Given the description of an element on the screen output the (x, y) to click on. 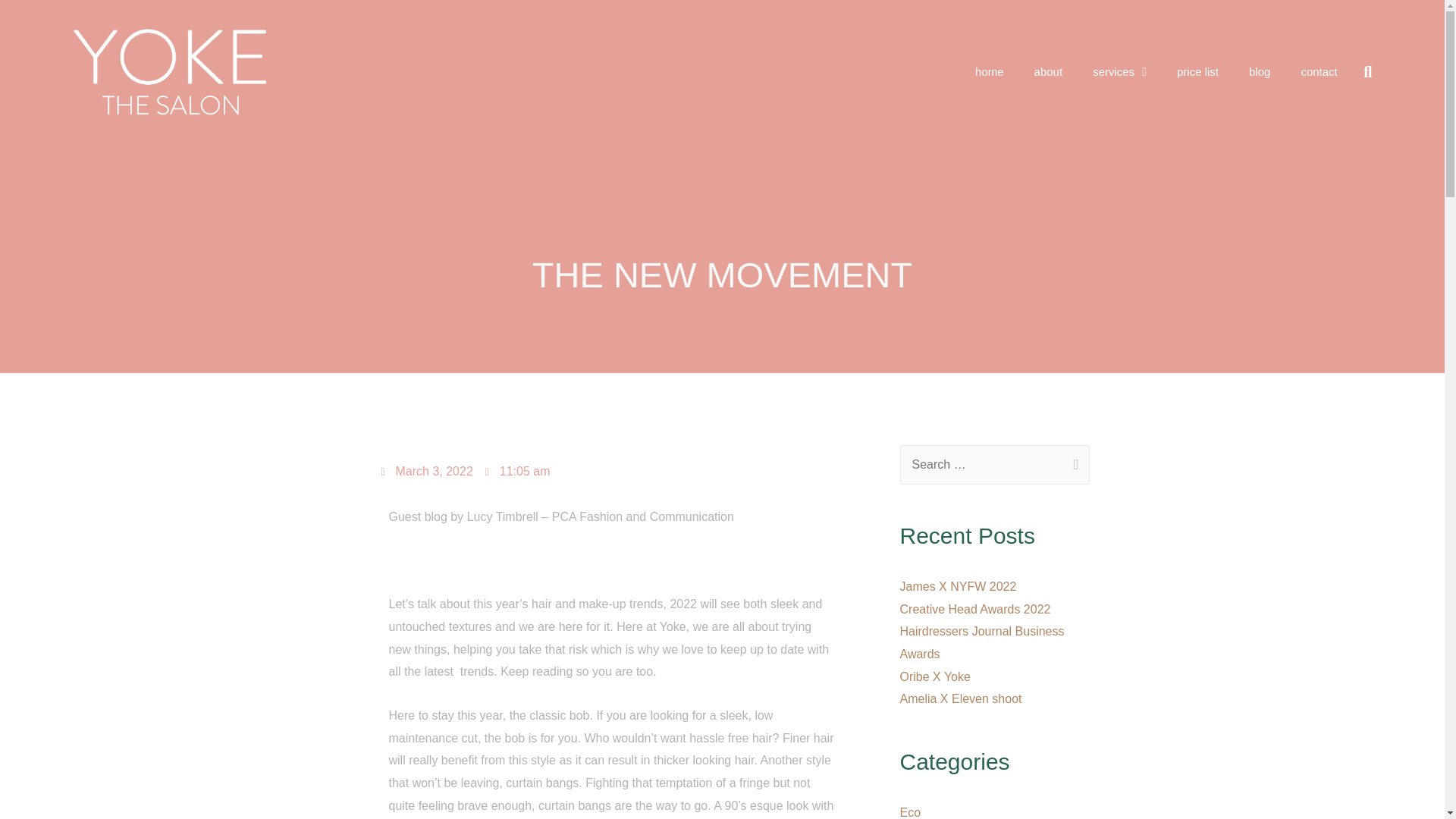
services (1119, 71)
March 3, 2022 (425, 471)
James X NYFW 2022 (957, 585)
Oribe X Yoke (934, 676)
Hairdressers Journal Business Awards (981, 642)
Creative Head Awards 2022 (974, 608)
price list (1197, 71)
Eco (909, 812)
Amelia X Eleven shoot (960, 698)
